Given the description of an element on the screen output the (x, y) to click on. 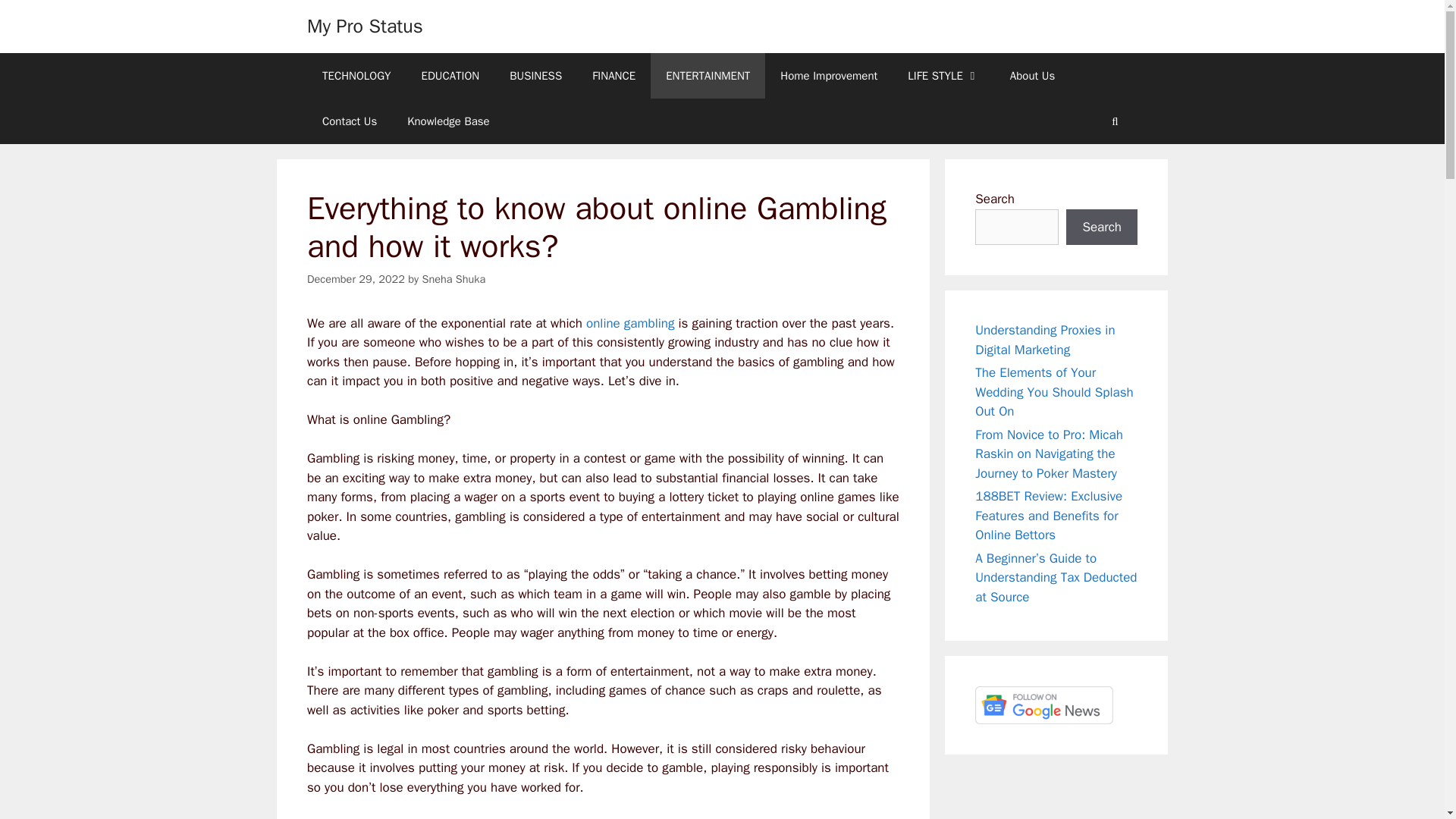
FINANCE (613, 75)
Understanding Proxies in Digital Marketing (1045, 339)
Contact Us (349, 121)
The Elements of Your Wedding You Should Splash Out On (1053, 391)
online gambling (630, 323)
LIFE STYLE (943, 75)
TECHNOLOGY (356, 75)
Home Improvement (828, 75)
Sneha Shuka (453, 278)
